Given the description of an element on the screen output the (x, y) to click on. 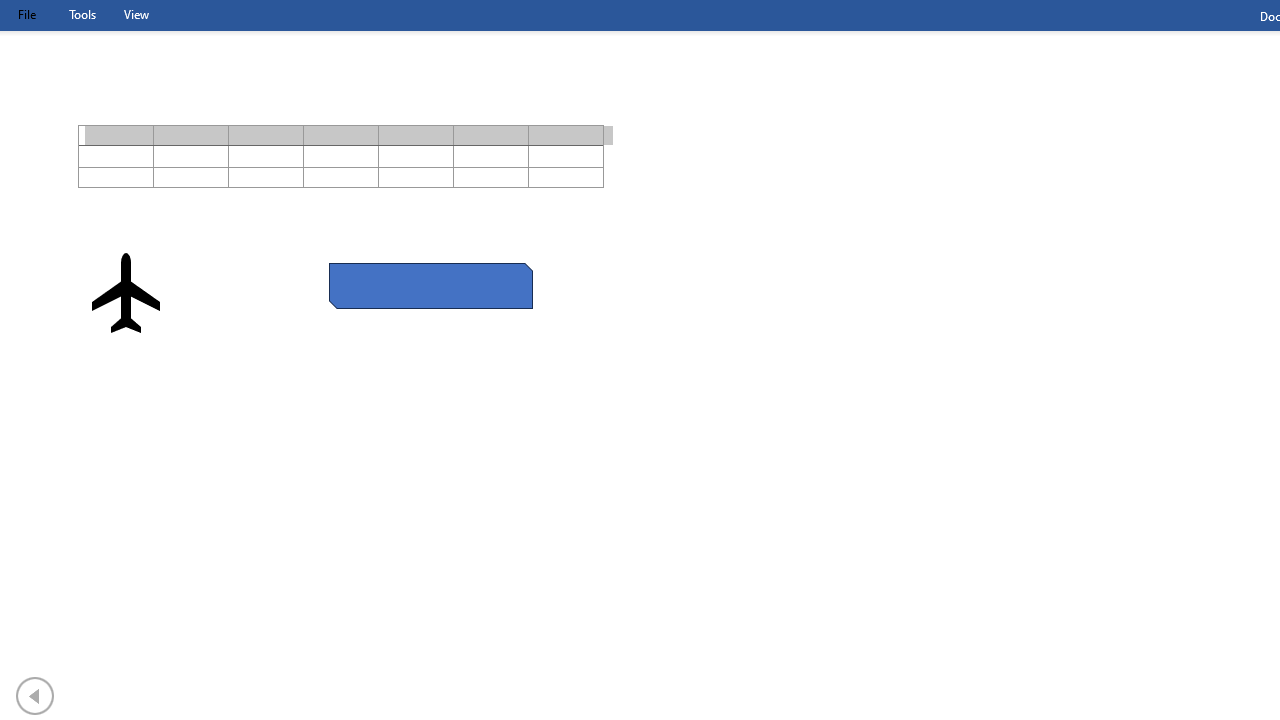
Tools (82, 14)
Rectangle: Diagonal Corners Snipped 2 (430, 285)
Airplane with solid fill (126, 292)
